Given the description of an element on the screen output the (x, y) to click on. 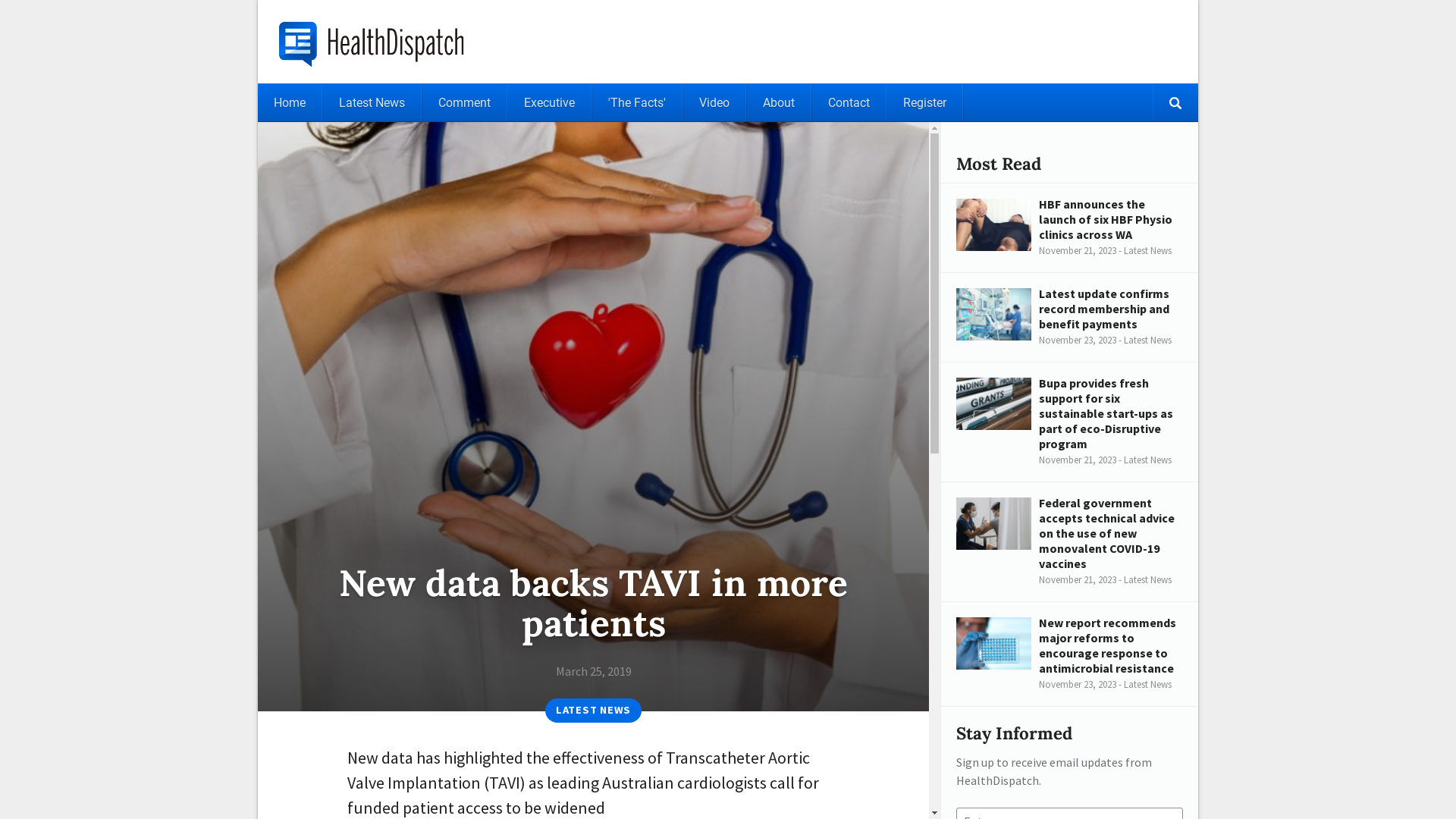
'The Facts' Element type: text (636, 102)
HealthDispatch Element type: text (378, 41)
Register Element type: text (924, 102)
Video Element type: text (714, 102)
Latest News Element type: text (371, 102)
Executive Element type: text (549, 102)
Comment Element type: text (464, 102)
LATEST NEWS Element type: text (593, 710)
About Element type: text (778, 102)
Search Element type: text (1175, 102)
Contact Element type: text (848, 102)
Home Element type: text (289, 102)
